Given the description of an element on the screen output the (x, y) to click on. 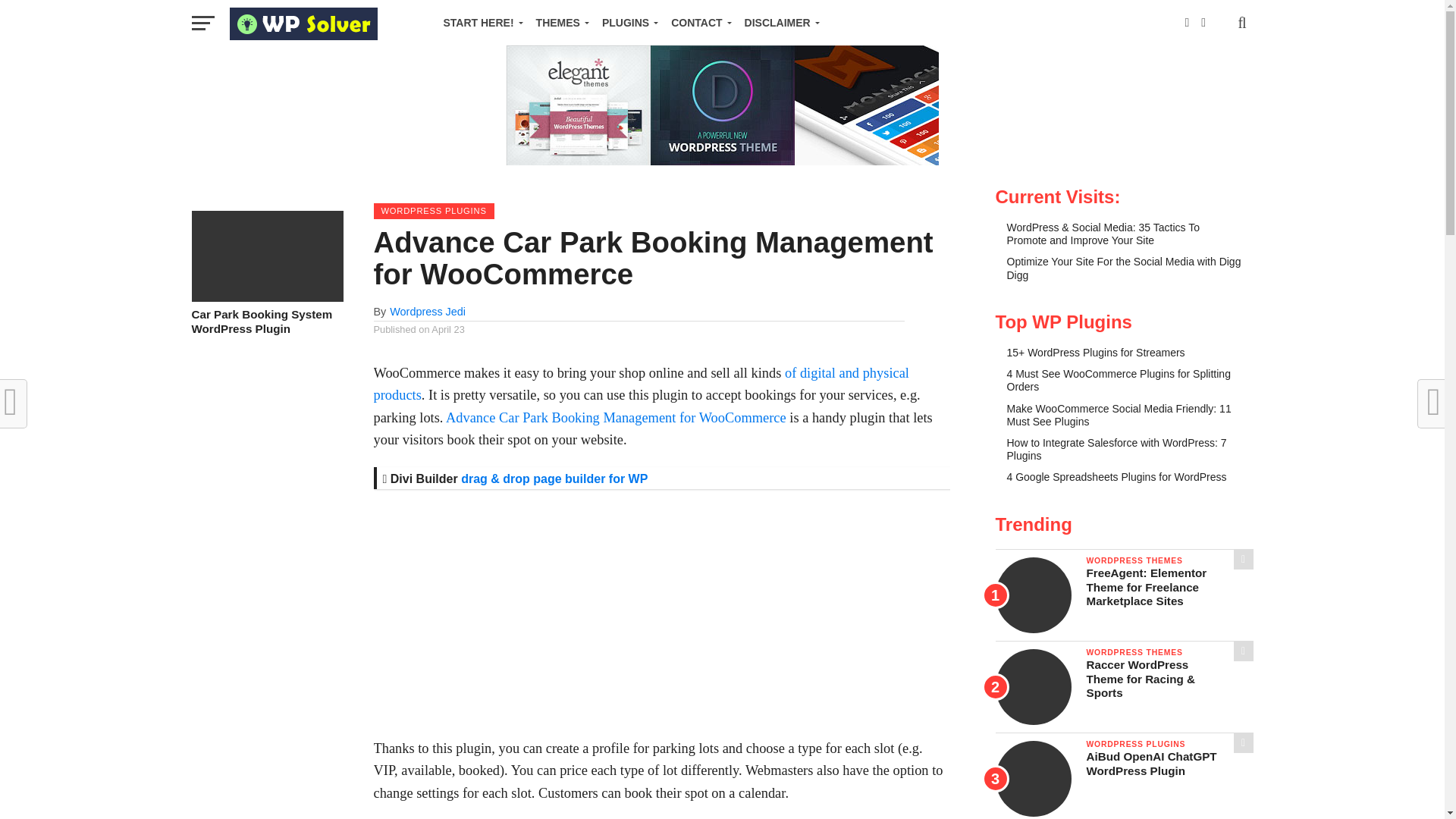
START HERE! (479, 22)
Car Park Booking System WordPress Plugin (266, 297)
Posts by Wordpress Jedi (427, 311)
